Given the description of an element on the screen output the (x, y) to click on. 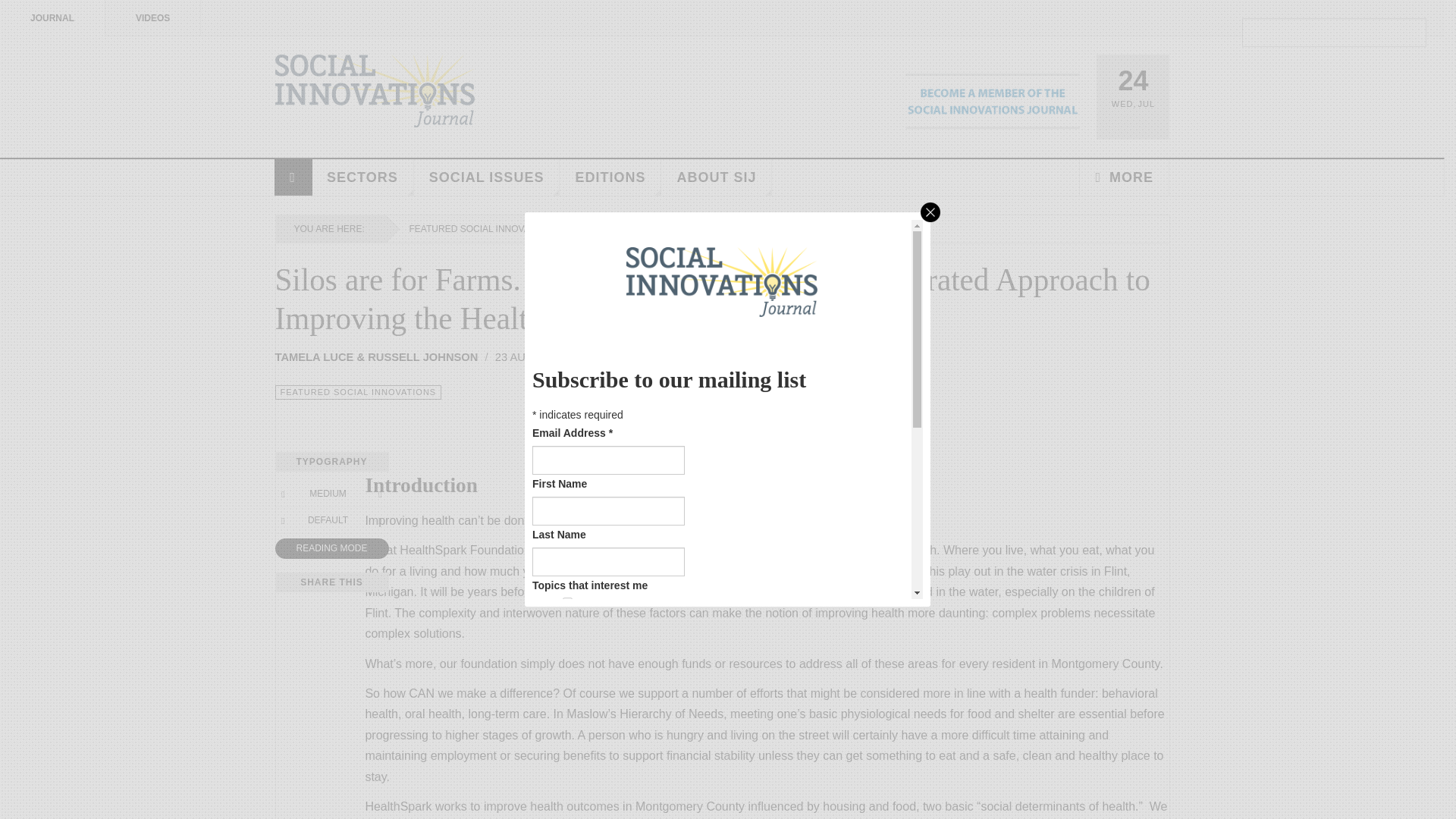
Social Innovation Journal (374, 90)
2 (567, 624)
256 (567, 777)
32 (567, 712)
512 (567, 800)
8 (567, 668)
64 (567, 734)
16 (567, 690)
128 (567, 756)
1 (567, 602)
4 (567, 646)
